Given the description of an element on the screen output the (x, y) to click on. 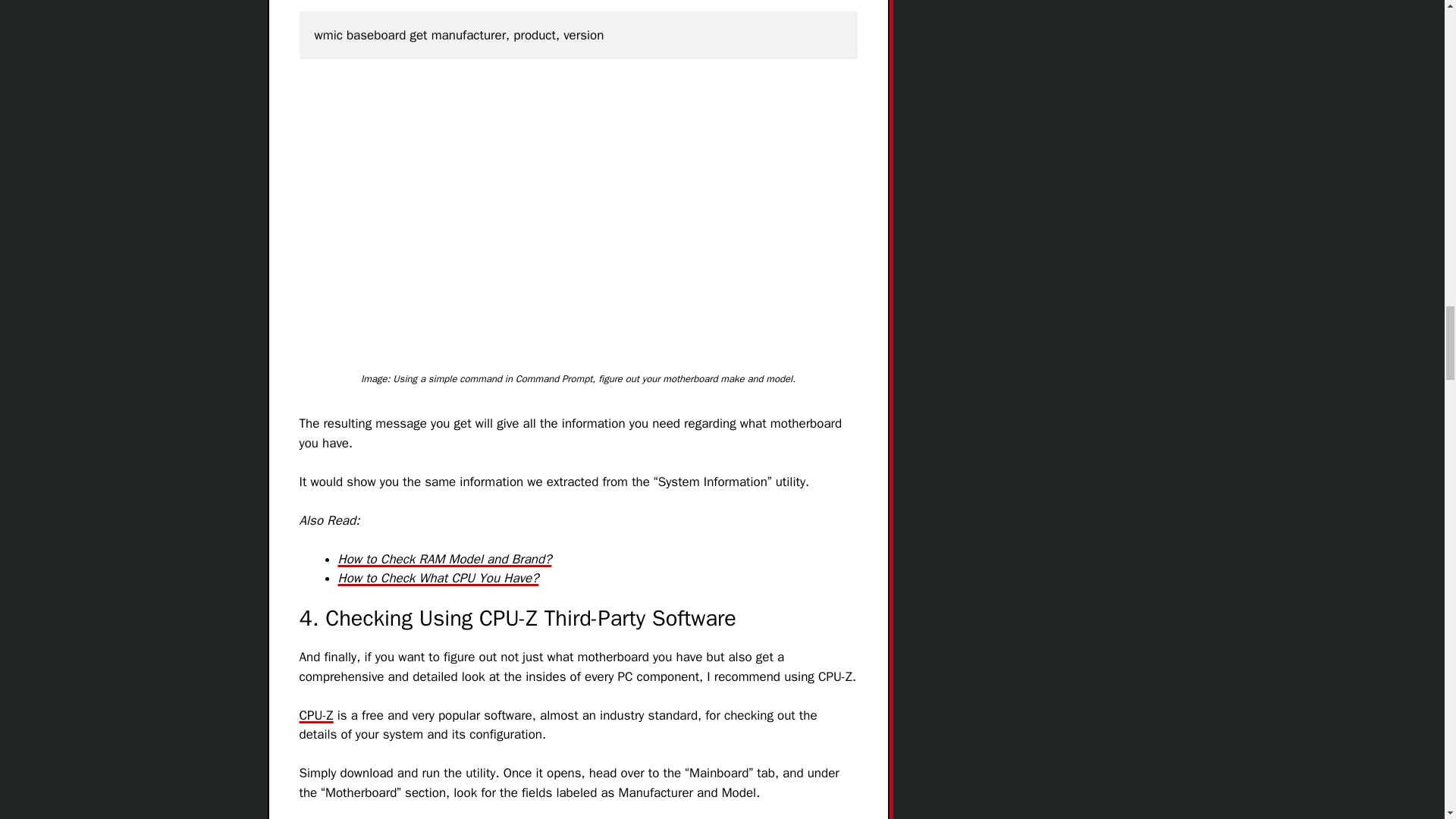
How to Check RAM Model and Brand? (444, 559)
How to Check What CPU You Have? (437, 578)
CPU-Z (315, 715)
